Given the description of an element on the screen output the (x, y) to click on. 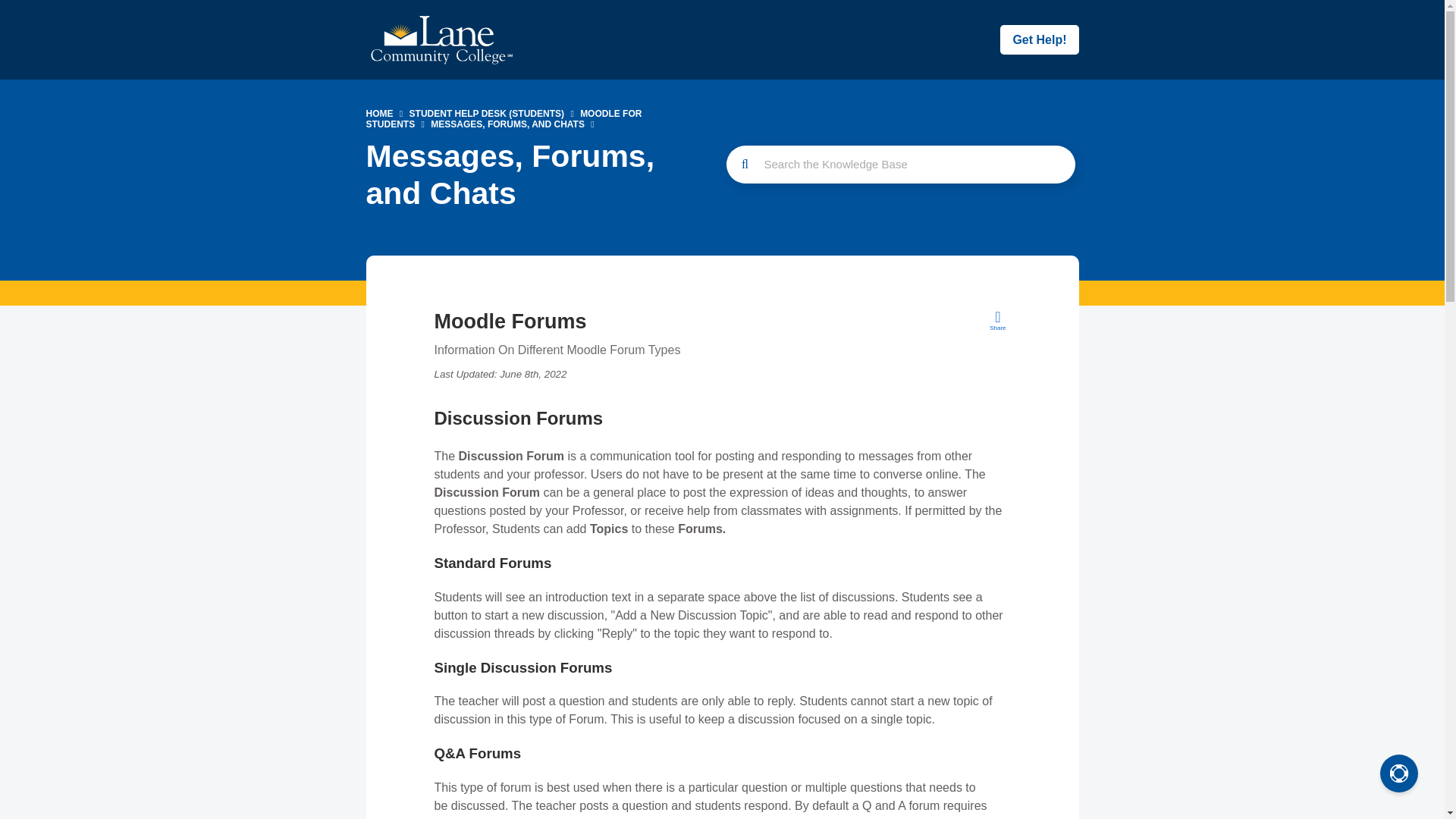
Share (997, 320)
MESSAGES, FORUMS, AND CHATS (507, 123)
Get Help! (1039, 39)
HOME (379, 113)
MOODLE FOR STUDENTS (503, 118)
